Given the description of an element on the screen output the (x, y) to click on. 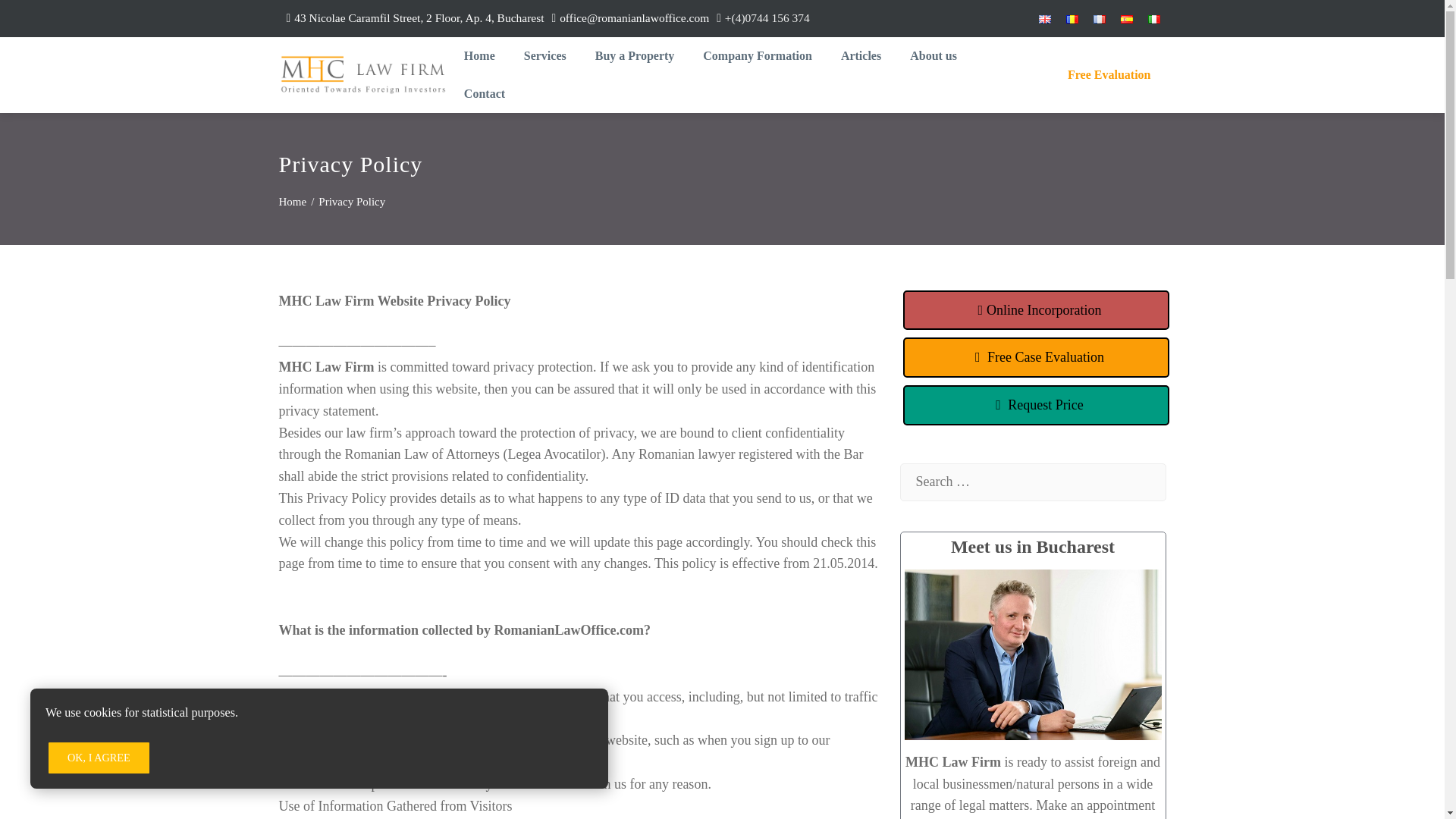
Request Price (1035, 404)
Contact (483, 94)
Company Formation (757, 55)
Buy a Property (635, 55)
Home (293, 201)
Services (545, 55)
Search (37, 18)
Free Evaluation (1109, 74)
Articles (860, 55)
About us (933, 55)
Home (478, 55)
Online Incorporation (1035, 310)
OK, I AGREE (98, 757)
Free Case Evaluation (1035, 357)
